Given the description of an element on the screen output the (x, y) to click on. 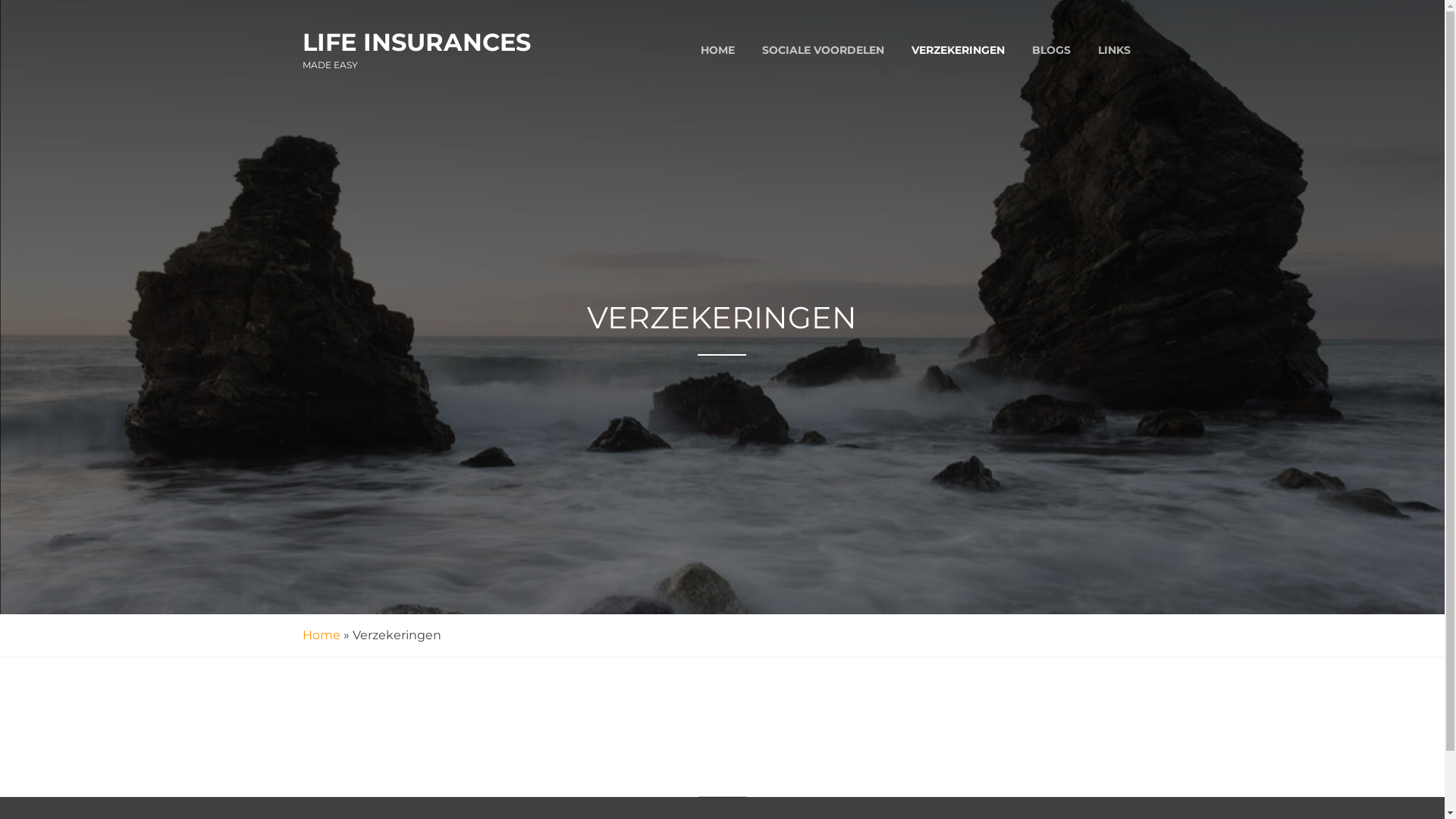
BLOGS Element type: text (1050, 50)
VERZEKERINGEN Element type: text (957, 50)
LIFE INSURANCES Element type: text (415, 41)
HOME Element type: text (717, 50)
Home Element type: text (320, 634)
LINKS Element type: text (1113, 50)
SOCIALE VOORDELEN Element type: text (822, 50)
